Given the description of an element on the screen output the (x, y) to click on. 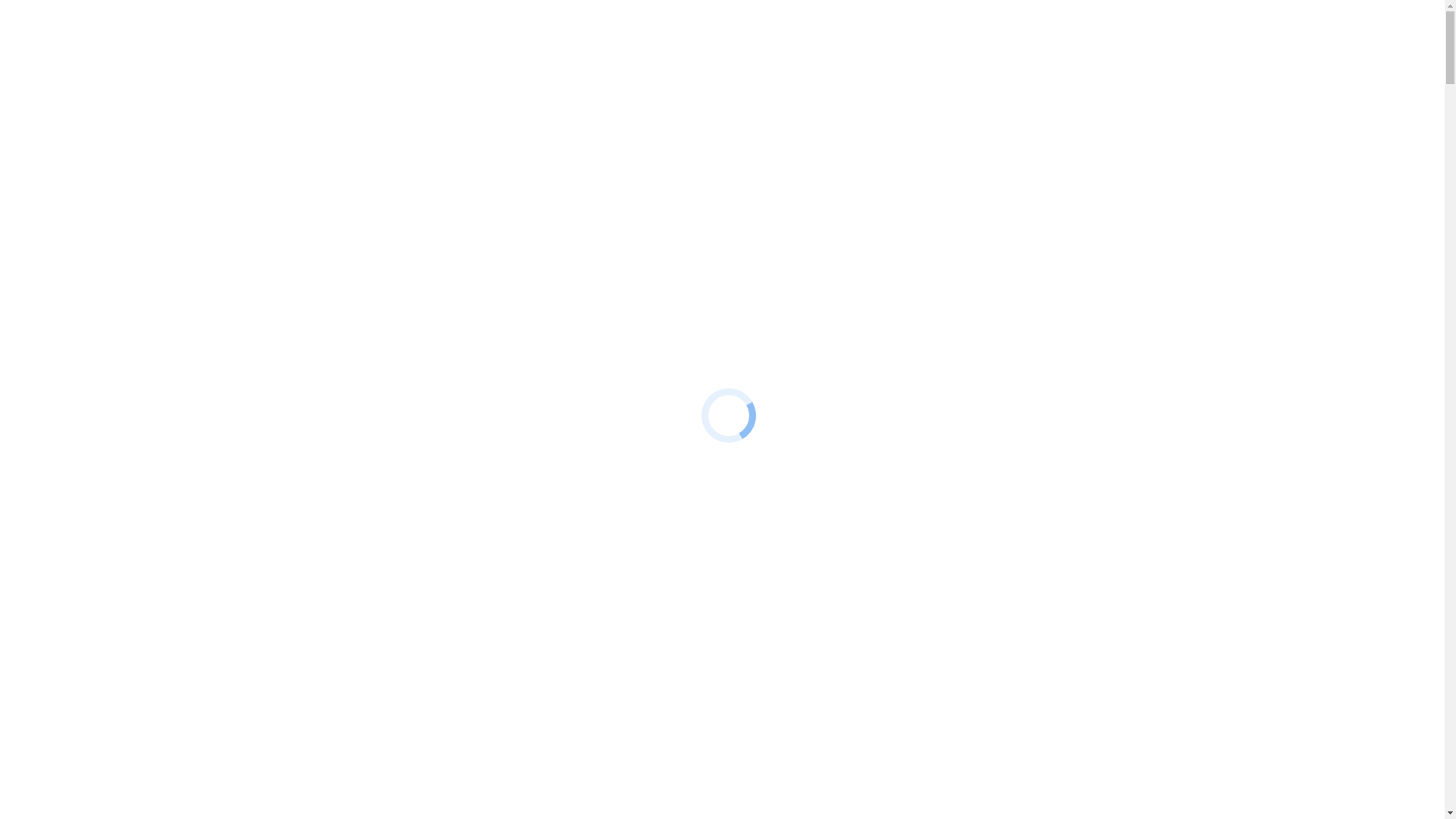
STANDART Element type: text (128, 283)
ECONOMY Element type: text (127, 595)
ECONOMY Element type: text (127, 297)
DECO Element type: text (113, 568)
PREMIUM Element type: text (125, 256)
DECO Element type: text (113, 269)
STANDART Element type: text (128, 582)
PREMIUM Element type: text (125, 555)
